Given the description of an element on the screen output the (x, y) to click on. 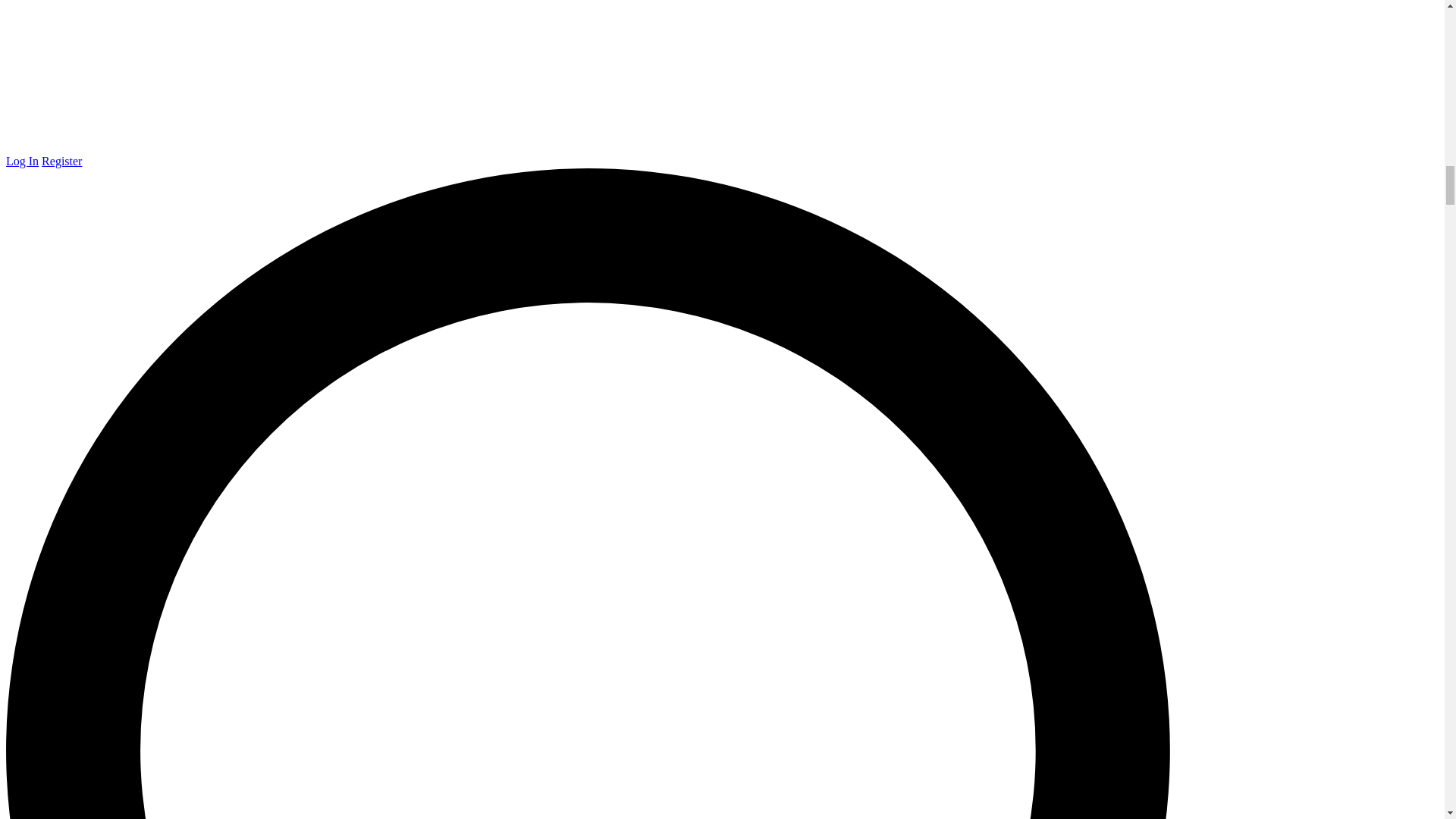
Register (61, 160)
Log In (22, 160)
